Given the description of an element on the screen output the (x, y) to click on. 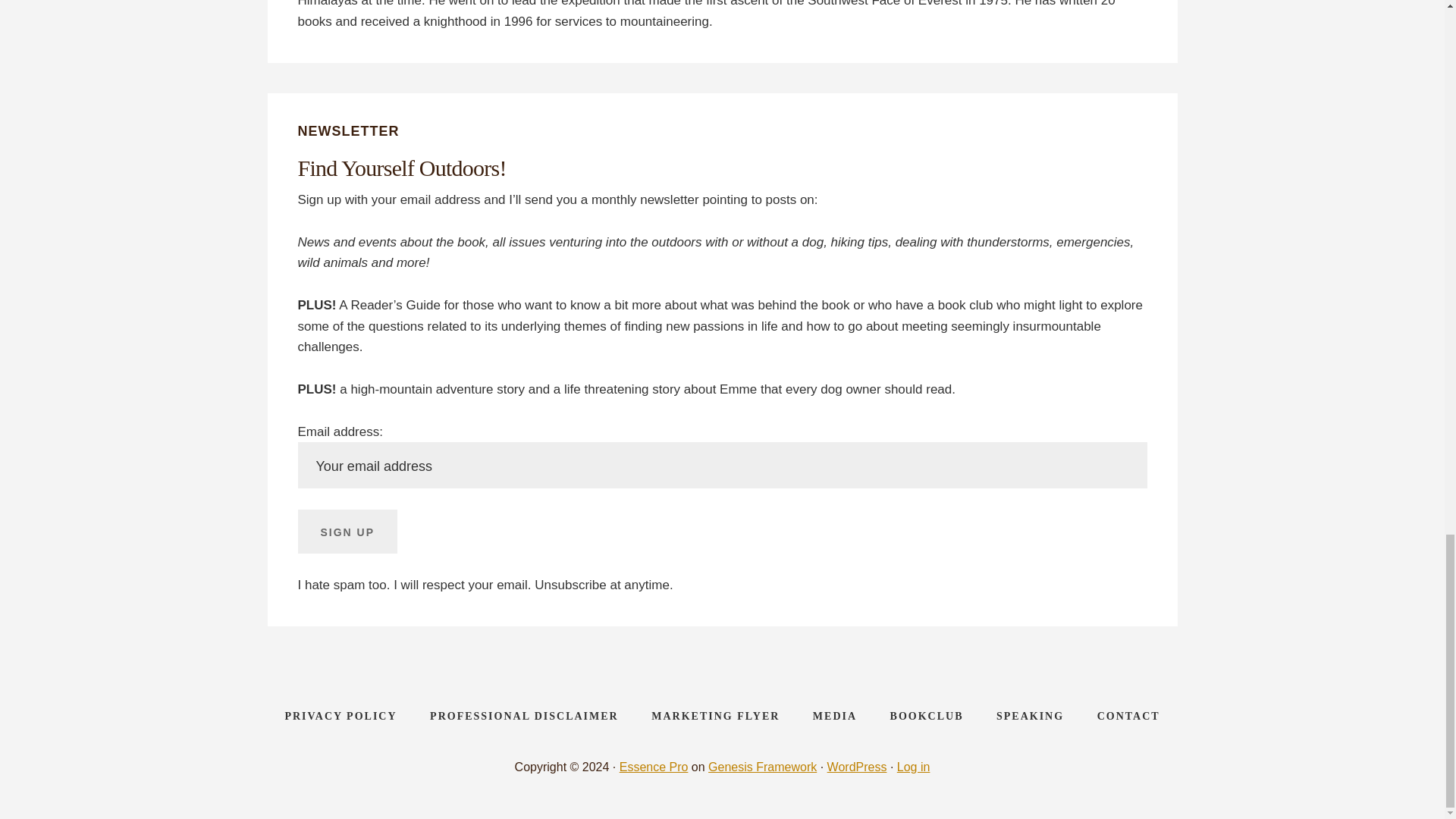
WordPress (856, 766)
Genesis Framework (761, 766)
MEDIA (834, 716)
Log in (913, 766)
CONTACT (1127, 716)
MARKETING FLYER (715, 716)
BOOKCLUB (926, 716)
PRIVACY POLICY (340, 716)
SPEAKING (1029, 716)
Sign up (347, 531)
Sign up (347, 531)
PROFESSIONAL DISCLAIMER (523, 716)
Essence Pro (654, 766)
